Given the description of an element on the screen output the (x, y) to click on. 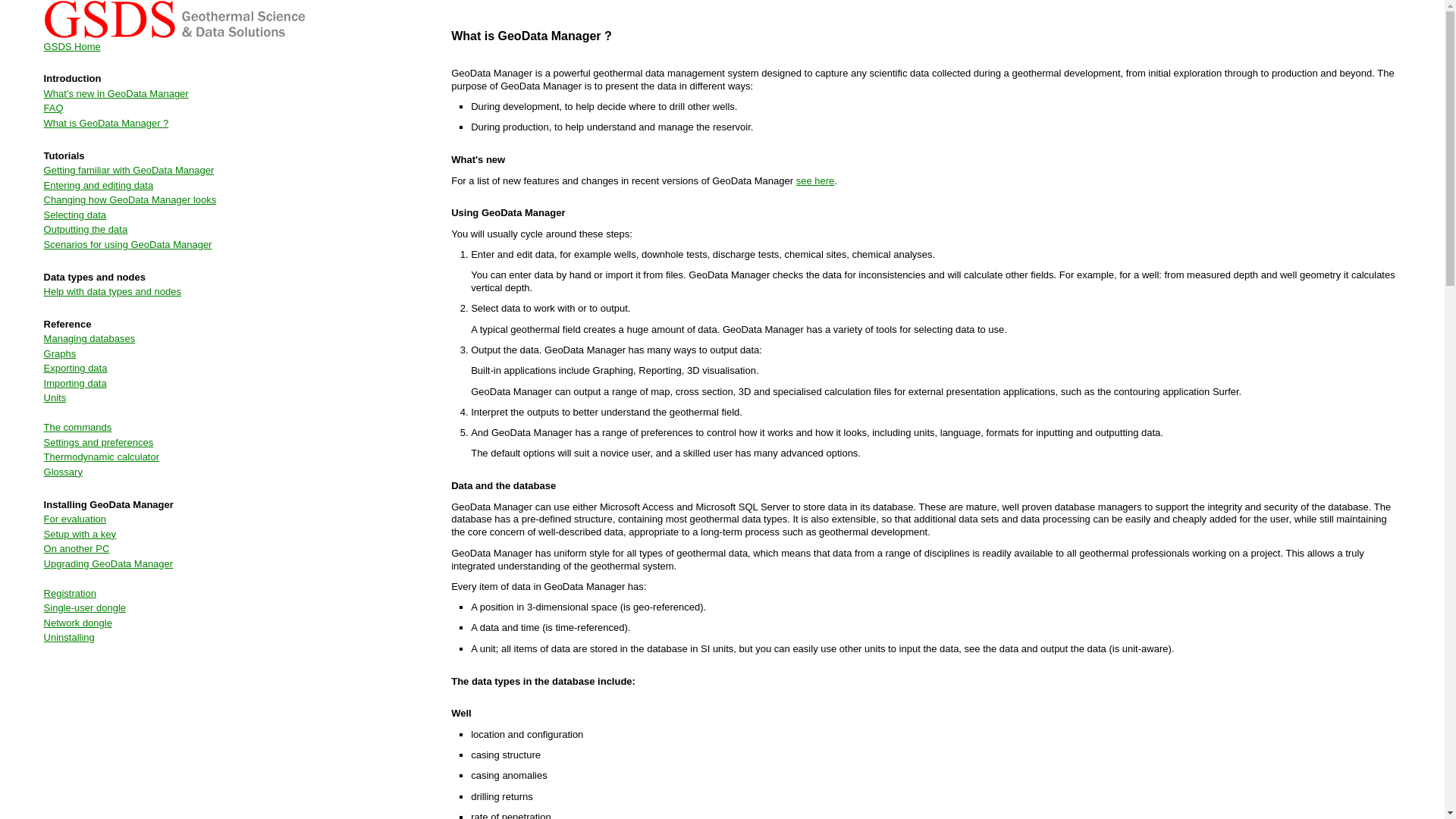
Help with data types and nodes (111, 291)
Settings and preferences (98, 441)
Graphs (60, 353)
Outputting the data (85, 229)
Selecting data (74, 214)
Thermodynamic calculator (100, 456)
Managing databases (89, 337)
What's new in GeoData Manager (116, 93)
Uninstalling (68, 636)
For evaluation (74, 518)
